Given the description of an element on the screen output the (x, y) to click on. 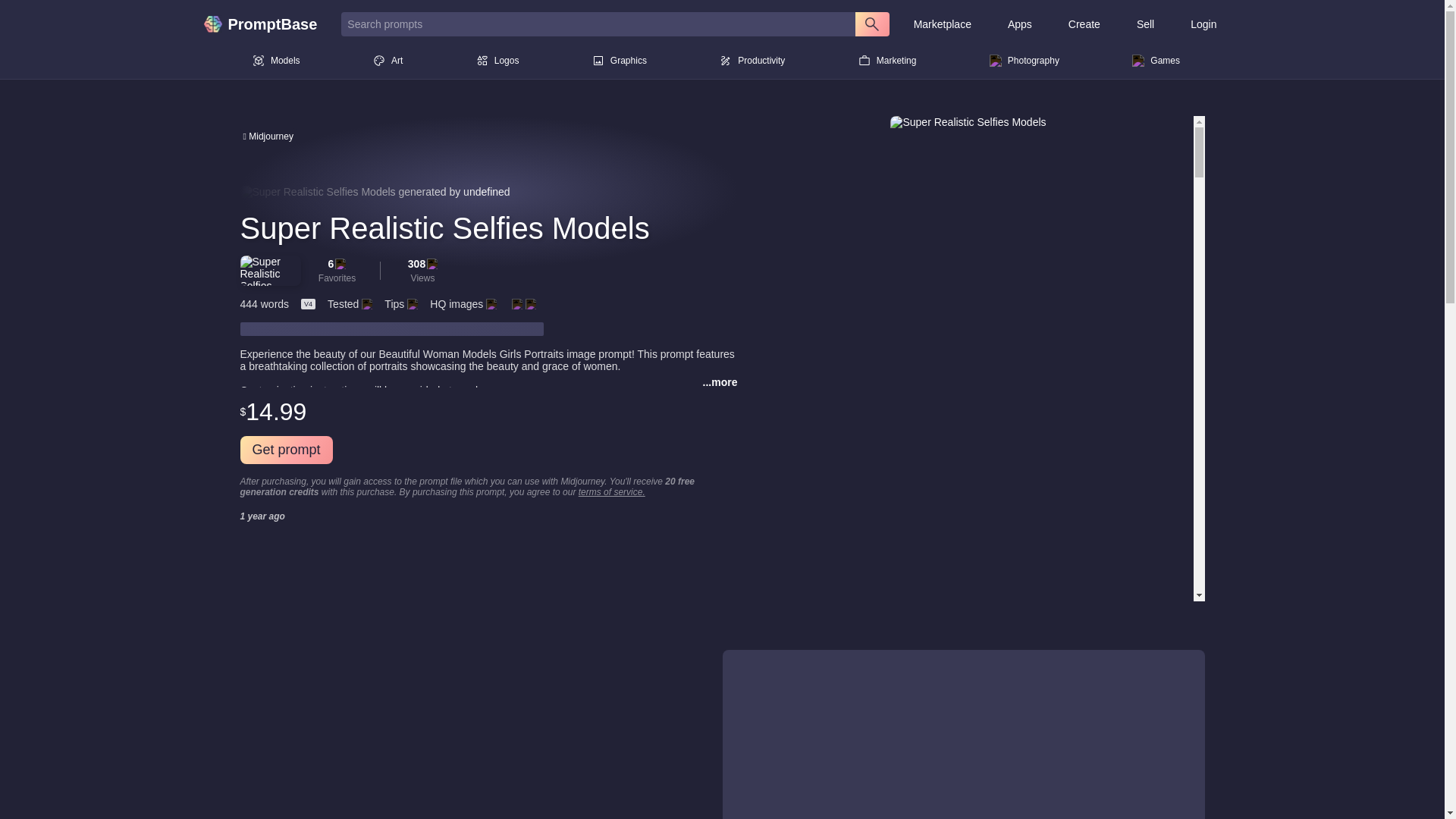
Marketing (886, 60)
Games (1155, 60)
Login (1202, 24)
Logos (497, 60)
Models (276, 60)
Marketplace (942, 24)
Photography (1023, 60)
Create (1084, 24)
Graphics (619, 60)
PromptBase (266, 24)
Apps (1019, 24)
Productivity (751, 60)
midjourney prompts (267, 135)
Art (387, 60)
Sell (1145, 24)
